Given the description of an element on the screen output the (x, y) to click on. 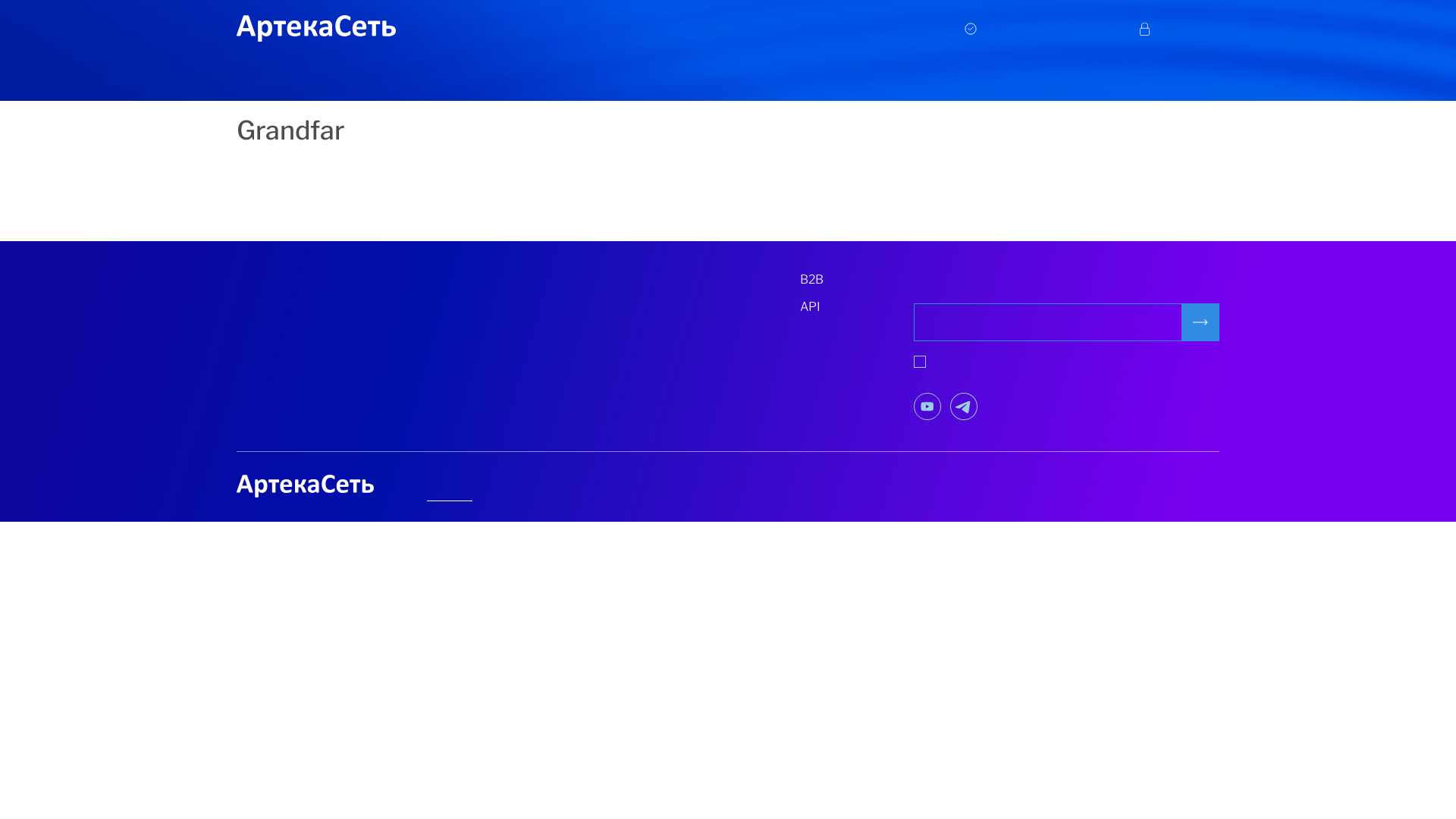
English Element type: text (509, 487)
API Element type: text (856, 306)
B2B Element type: text (856, 279)
